Given the description of an element on the screen output the (x, y) to click on. 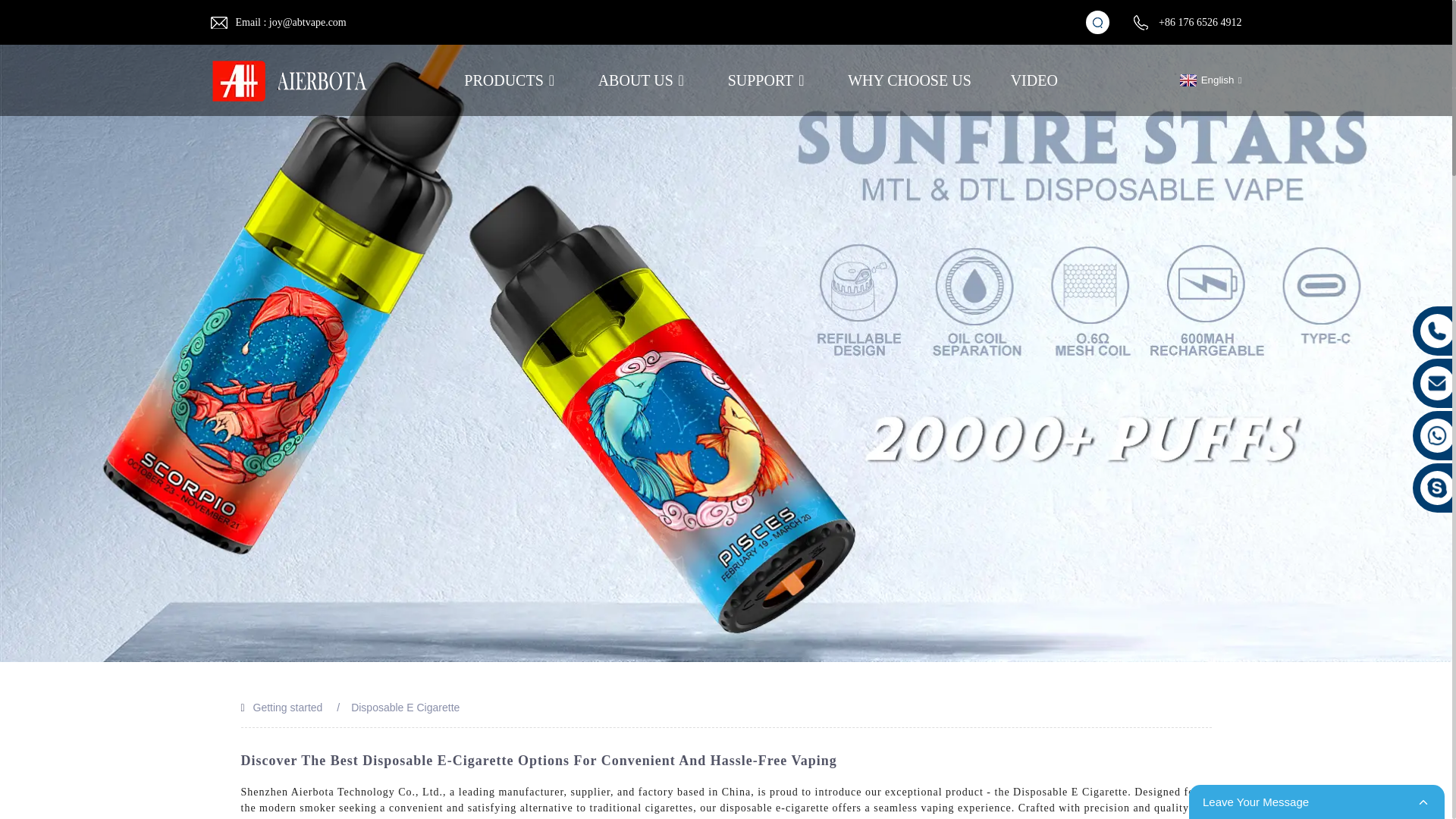
Disposable E Cigarette (405, 707)
Getting started (288, 707)
PRODUCTS (510, 80)
English (1208, 79)
English (1208, 79)
WHY CHOOSE US (909, 80)
ABOUT US (643, 80)
SUPPORT (768, 80)
